Given the description of an element on the screen output the (x, y) to click on. 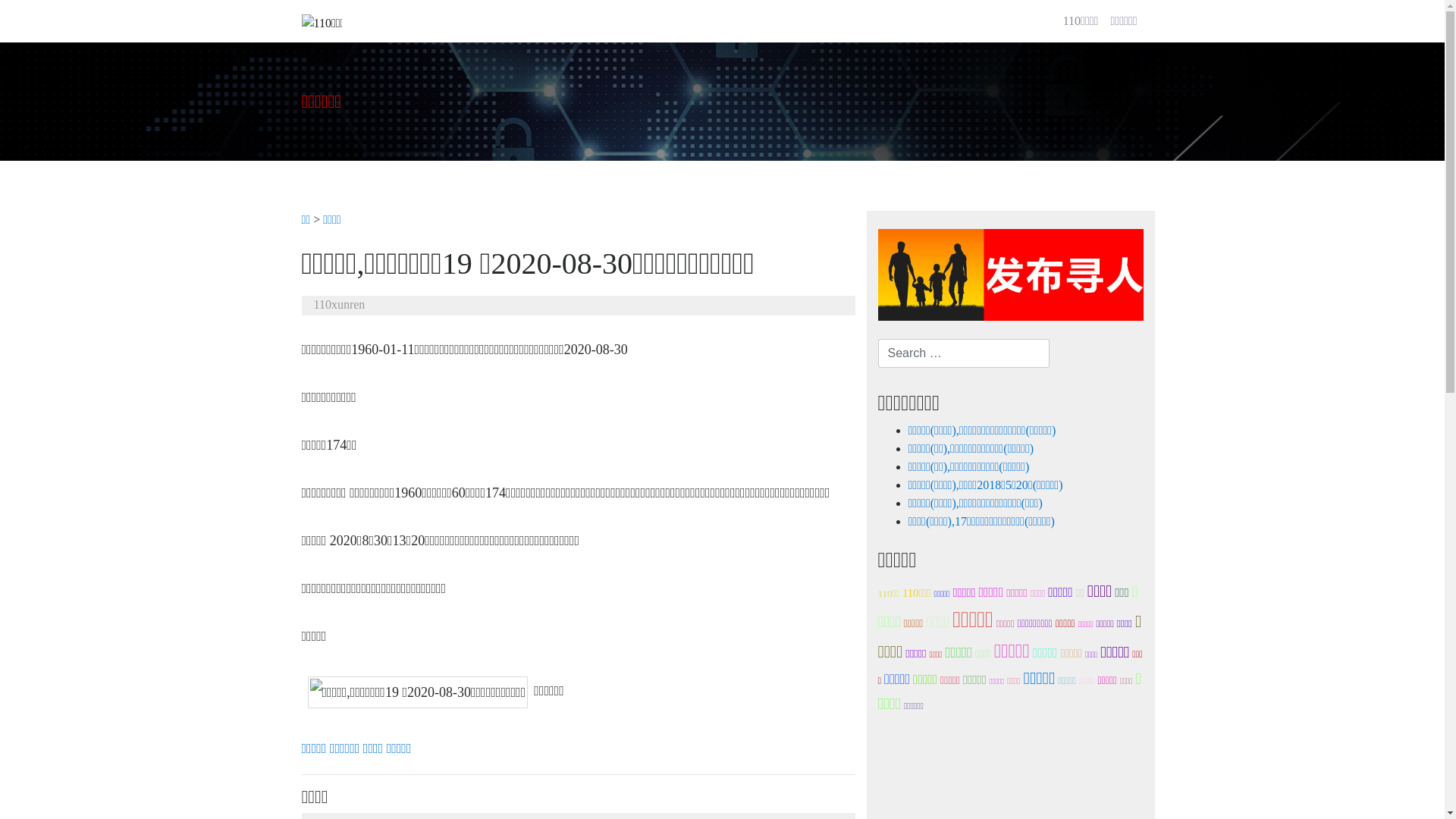
Search Element type: text (32, 14)
Search for: Element type: hover (963, 352)
